Given the description of an element on the screen output the (x, y) to click on. 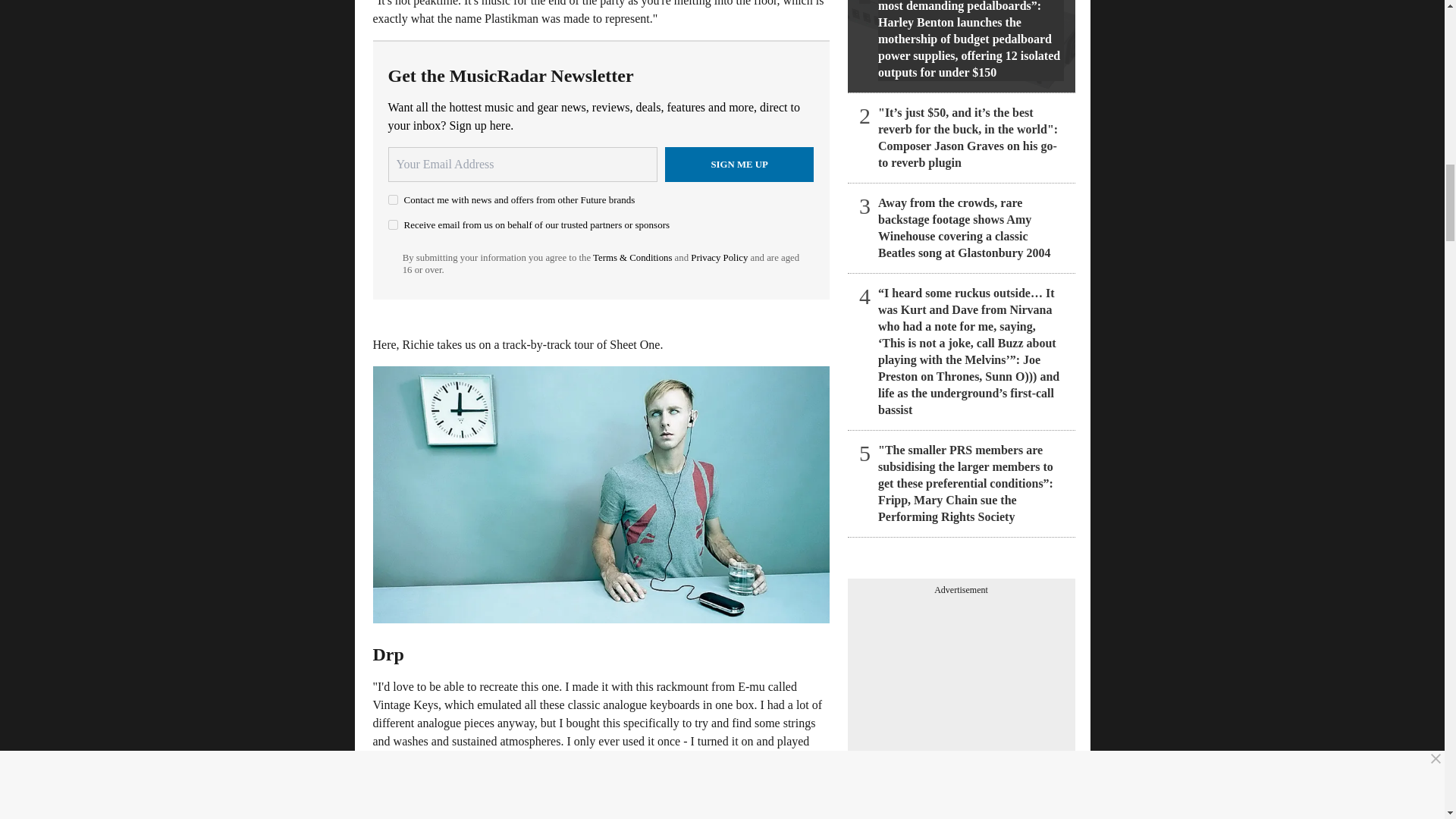
on (392, 199)
Sign me up (739, 164)
on (392, 225)
